Given the description of an element on the screen output the (x, y) to click on. 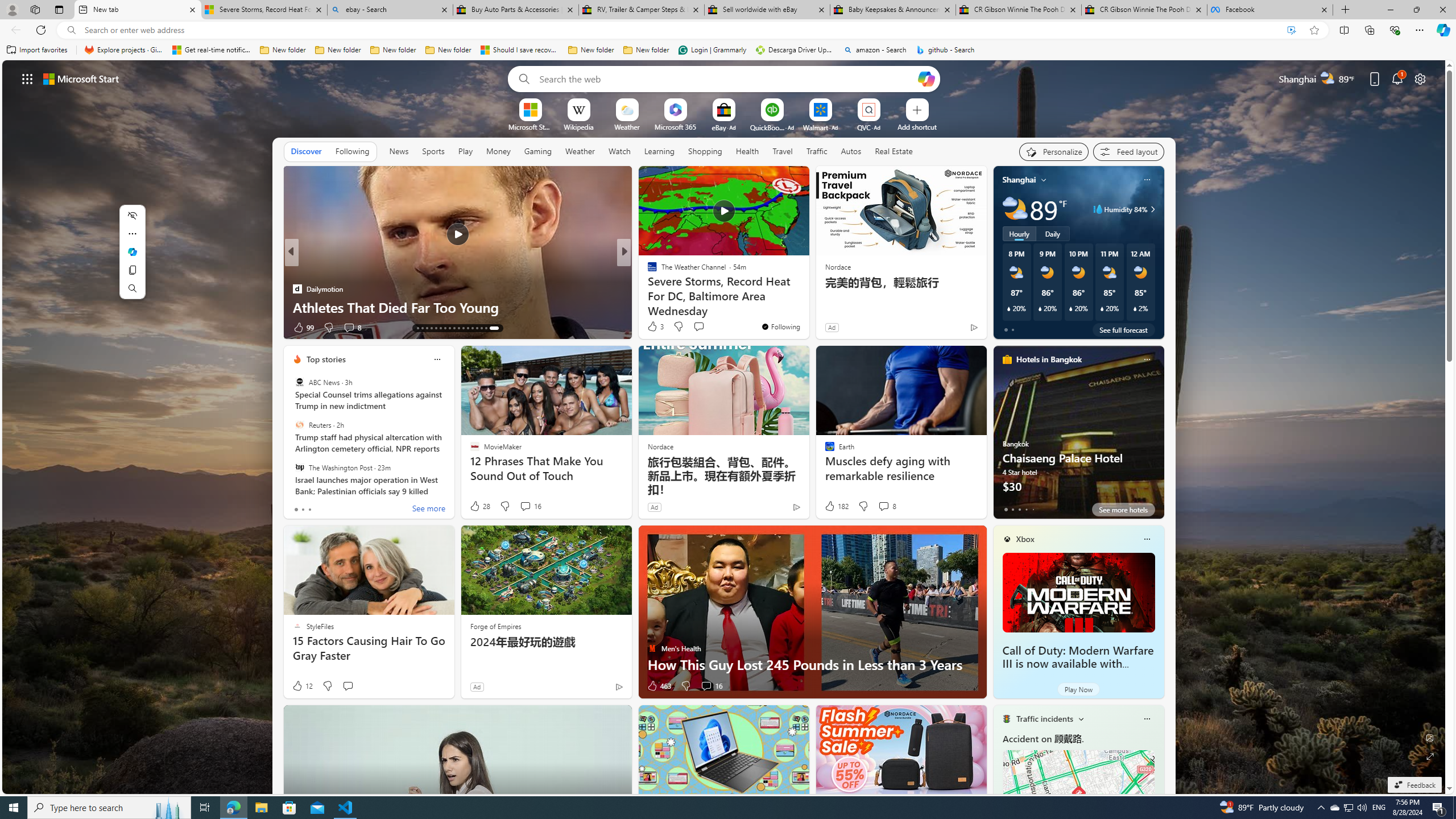
AutomationID: tab-27 (488, 328)
4 Like (301, 327)
AutomationID: tab-14 (428, 328)
My location (1043, 179)
Special Personal Offer (807, 307)
20 Activities People Over 60 Should Skip (807, 307)
Shopping (705, 151)
Sell worldwide with eBay (766, 9)
Play Now (1078, 689)
The #1 Best Bench Press Workout To Increase Strength (807, 298)
New folder (646, 49)
